Given the description of an element on the screen output the (x, y) to click on. 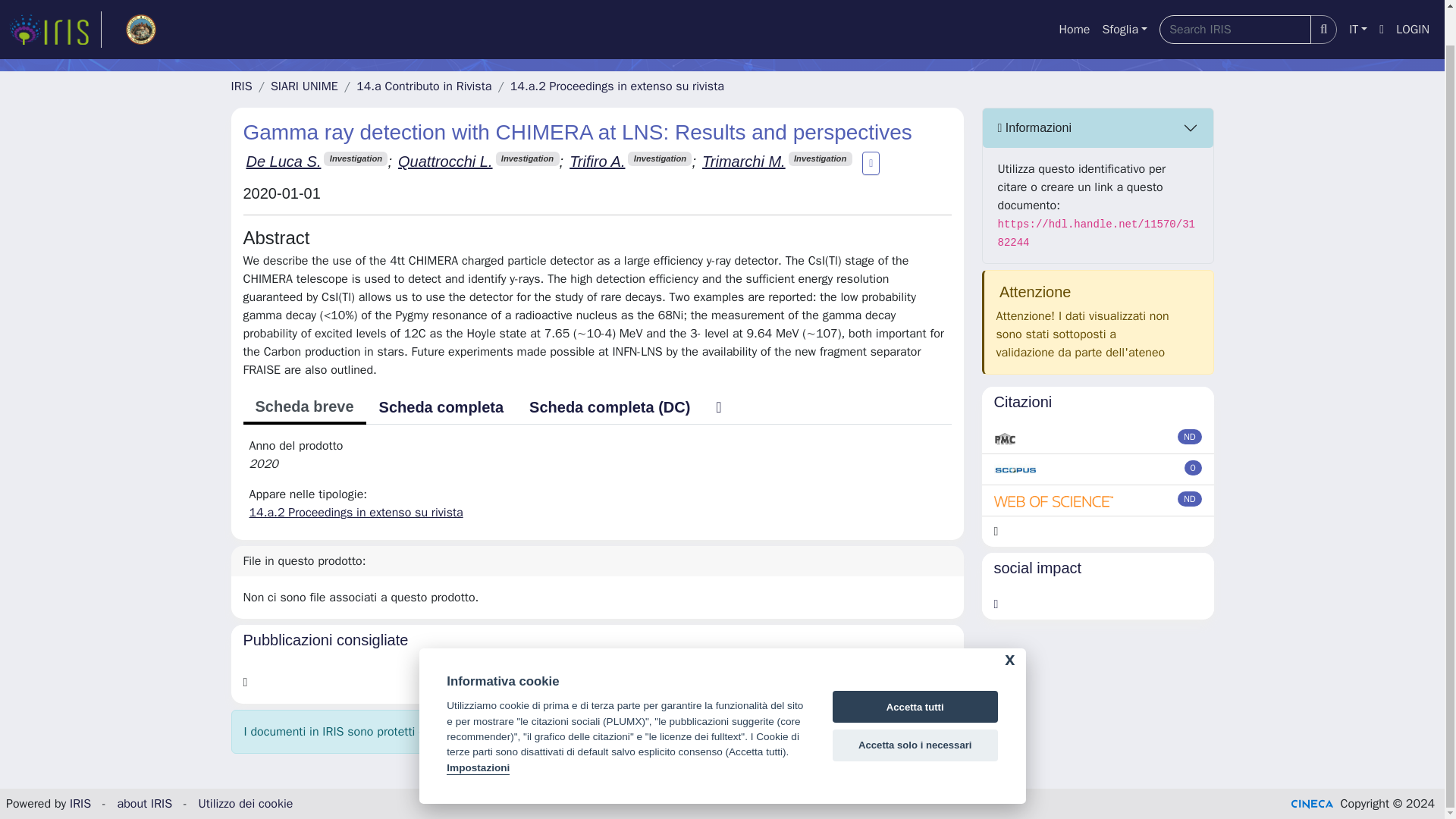
14.a.2 Proceedings in extenso su rivista (617, 86)
Scheda completa (441, 407)
14.a Contributo in Rivista (424, 86)
Impostazioni (477, 731)
aggiornato in data 14-06-2024 17:47 (1193, 467)
Sfoglia (1124, 4)
SIARI UNIME (303, 86)
Trimarchi M. (743, 161)
Quattrocchi L. (445, 161)
Accetta solo i necessari (914, 708)
IT (1357, 4)
IRIS (240, 86)
Accetta tutti (914, 670)
Home (1074, 4)
Scheda breve (304, 408)
